Given the description of an element on the screen output the (x, y) to click on. 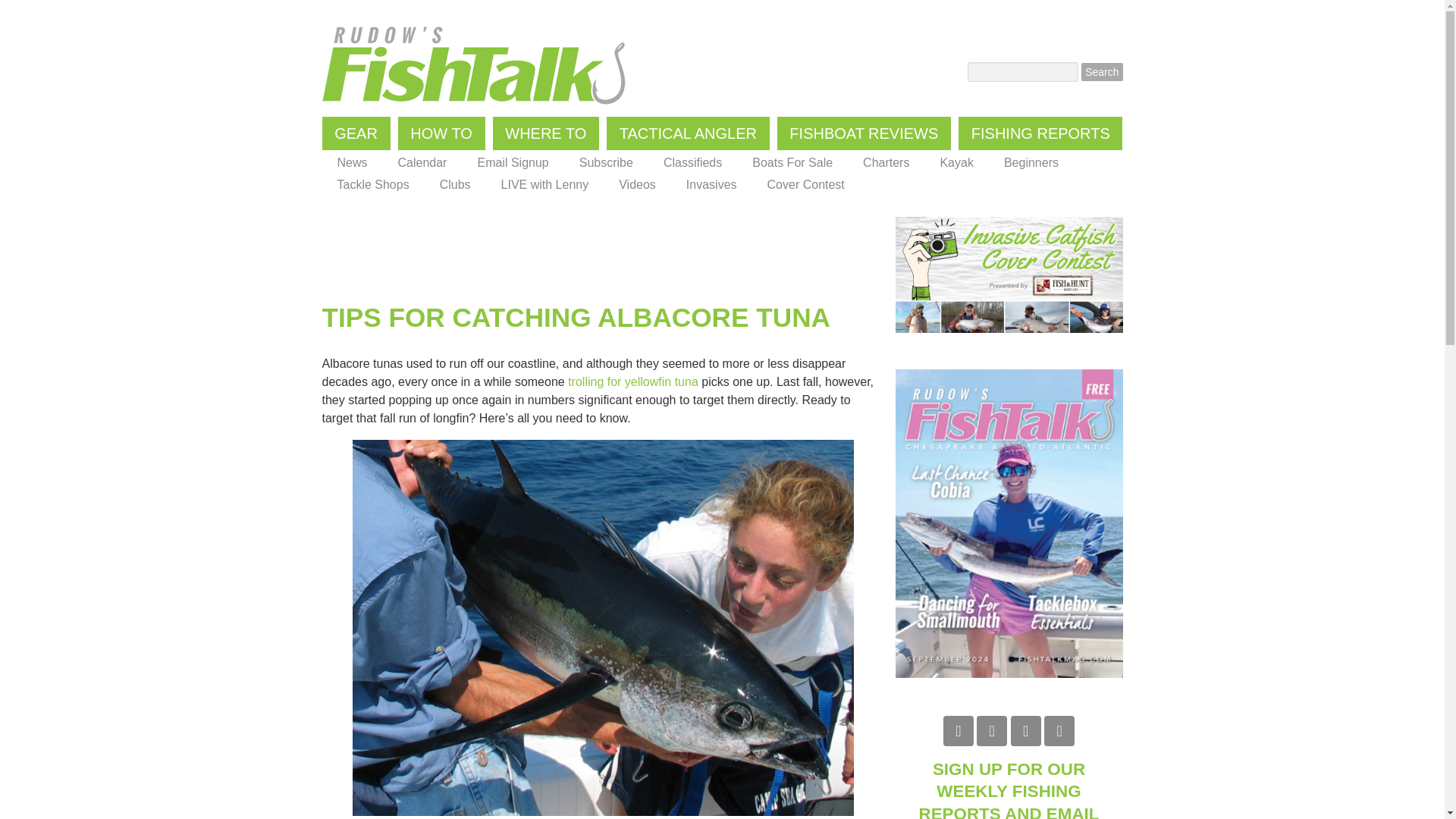
Clubs (454, 185)
Home (472, 65)
FISHING REPORTS (1040, 133)
Search (1101, 72)
Invasives (710, 185)
FISHBOAT REVIEWS (863, 133)
TACTICAL ANGLER (688, 133)
Charters (885, 162)
HOW TO (440, 133)
Search (1101, 72)
